Given the description of an element on the screen output the (x, y) to click on. 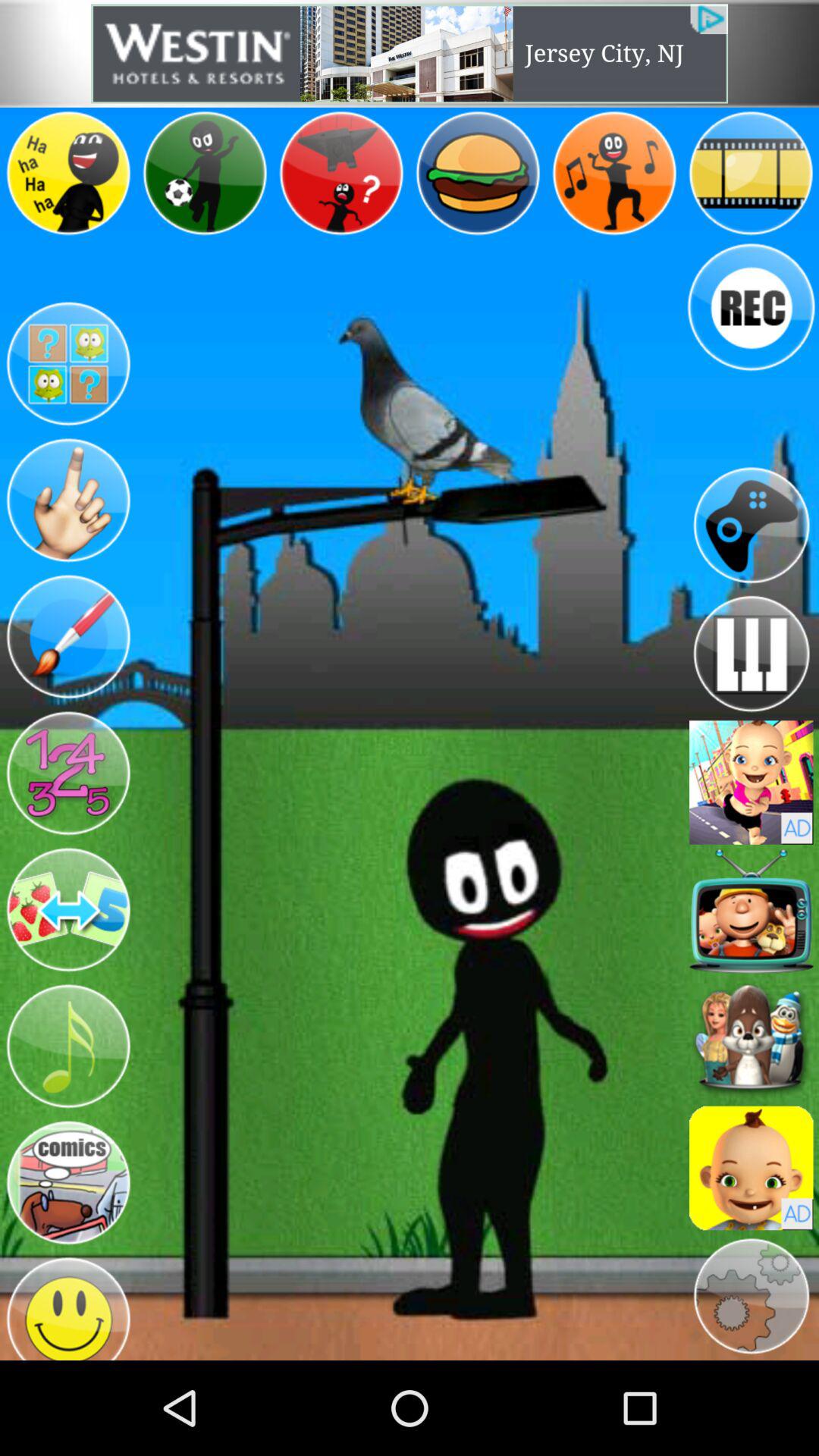
advertisement (751, 1167)
